Given the description of an element on the screen output the (x, y) to click on. 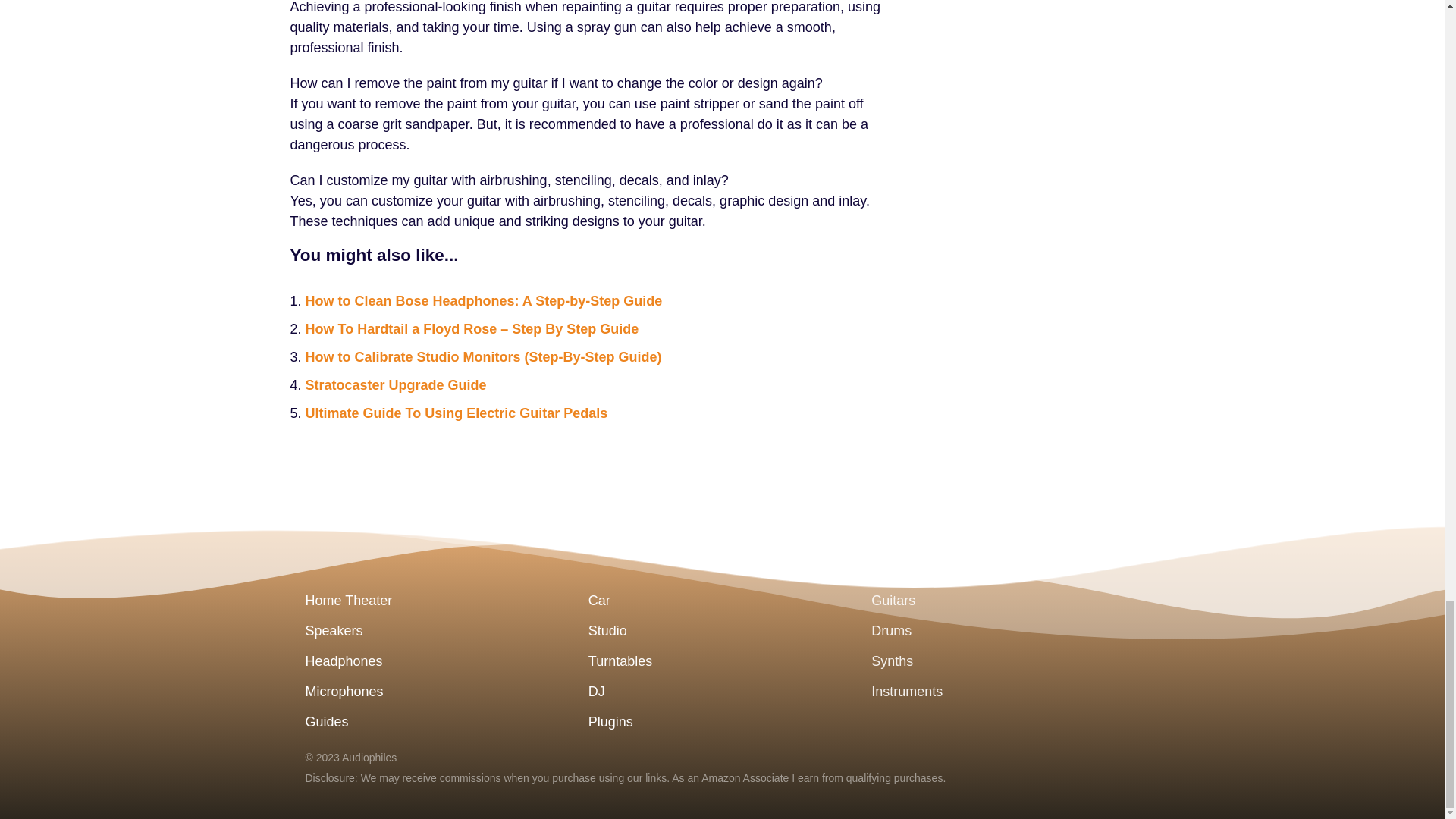
Ultimate Guide To Using Electric Guitar Pedals (455, 412)
How to Clean Bose Headphones: A Step-by-Step Guide (483, 300)
Stratocaster Upgrade Guide (395, 384)
Home Theater (438, 600)
Ultimate Guide To Using Electric Guitar Pedals (455, 412)
How to Clean Bose Headphones: A Step-by-Step Guide (483, 300)
Stratocaster Upgrade Guide (395, 384)
